Given the description of an element on the screen output the (x, y) to click on. 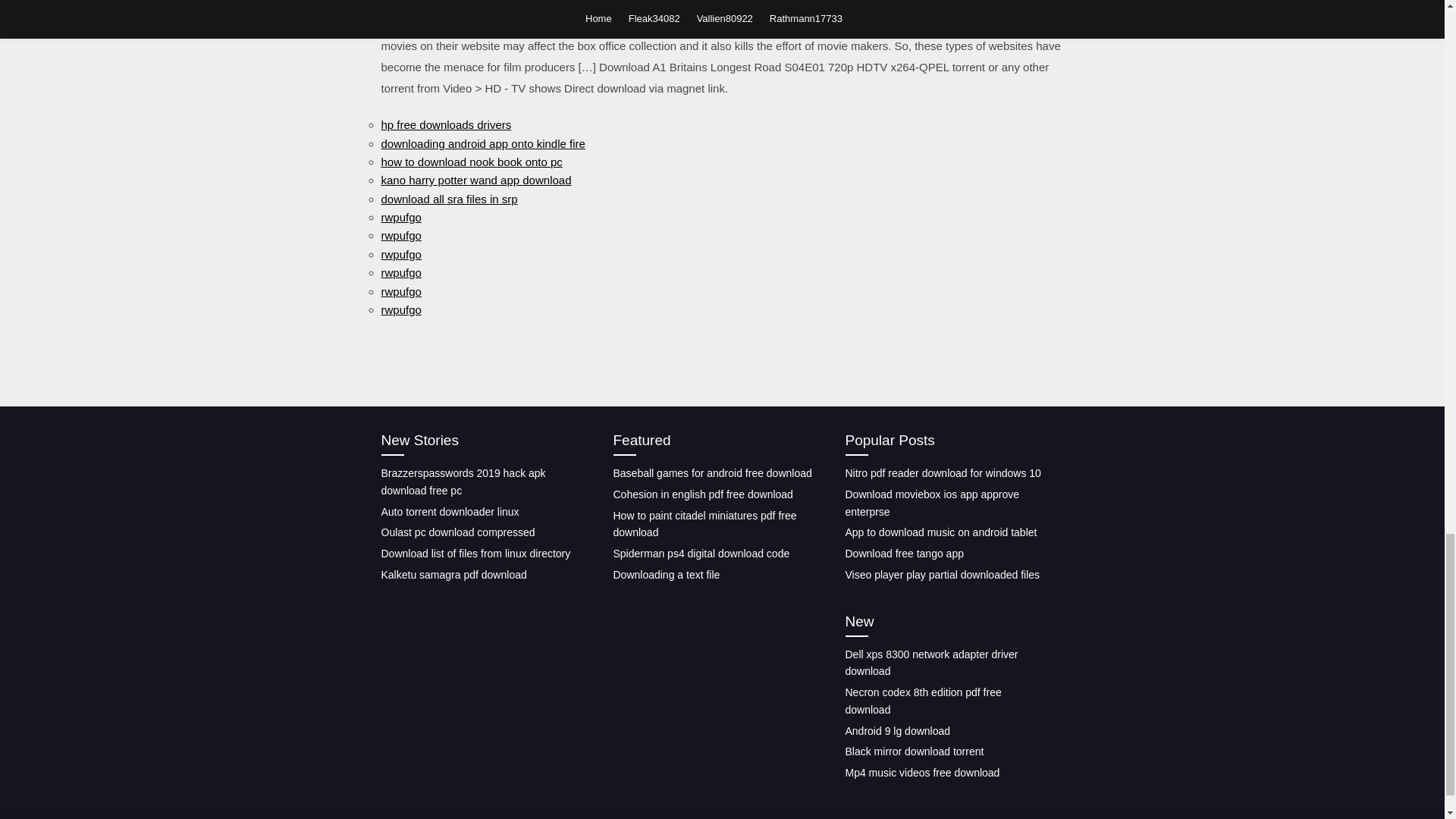
Download moviebox ios app approve enterprse (931, 502)
Mp4 music videos free download (921, 772)
Necron codex 8th edition pdf free download (922, 700)
App to download music on android tablet (940, 532)
Kalketu samagra pdf download (452, 574)
Auto torrent downloader linux (449, 511)
rwpufgo (400, 216)
Download free tango app (903, 553)
Spiderman ps4 digital download code (700, 553)
Dell xps 8300 network adapter driver download (930, 662)
